Given the description of an element on the screen output the (x, y) to click on. 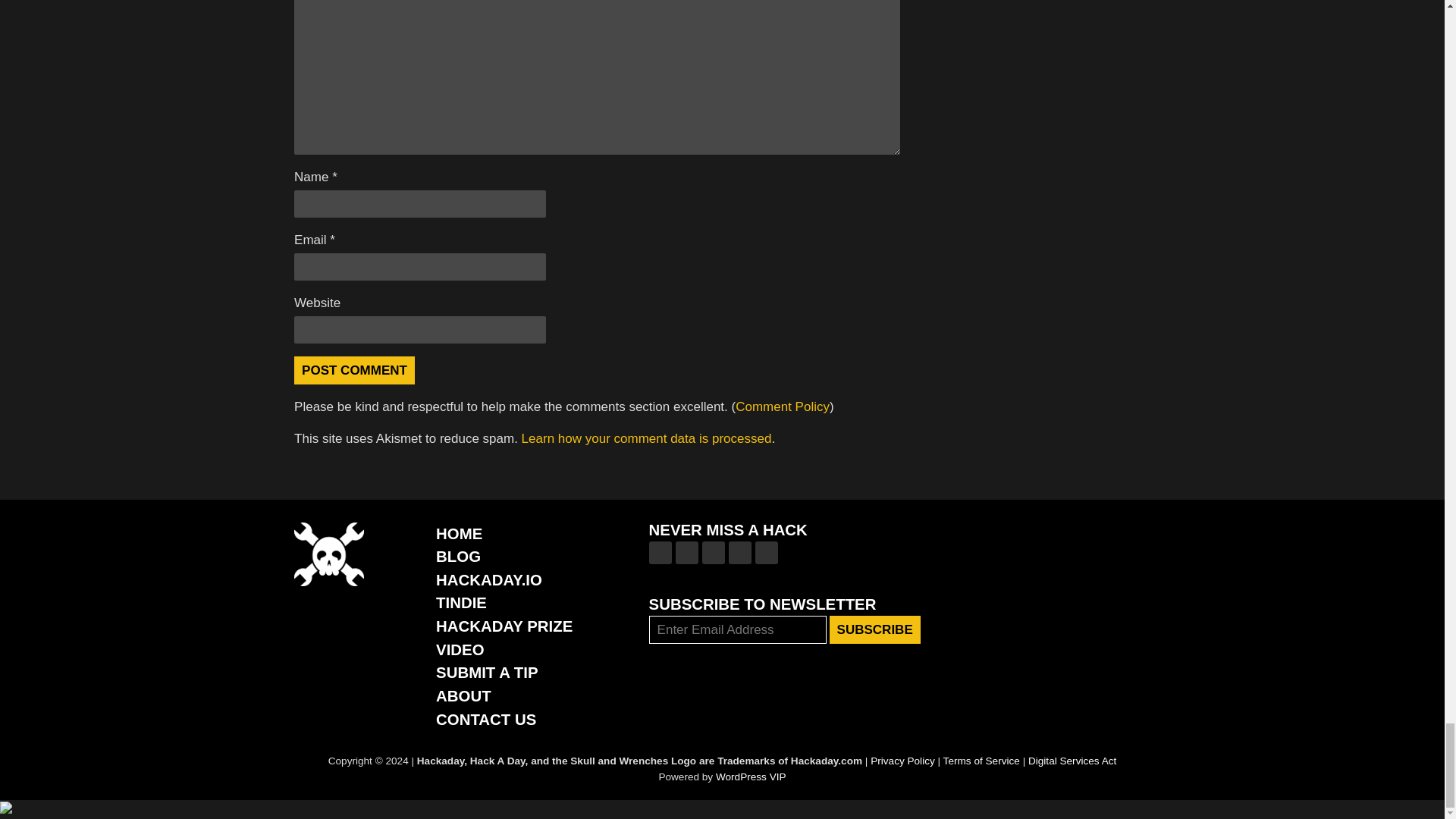
Subscribe (874, 629)
Build Something that Matters (503, 626)
Post Comment (354, 370)
